Given the description of an element on the screen output the (x, y) to click on. 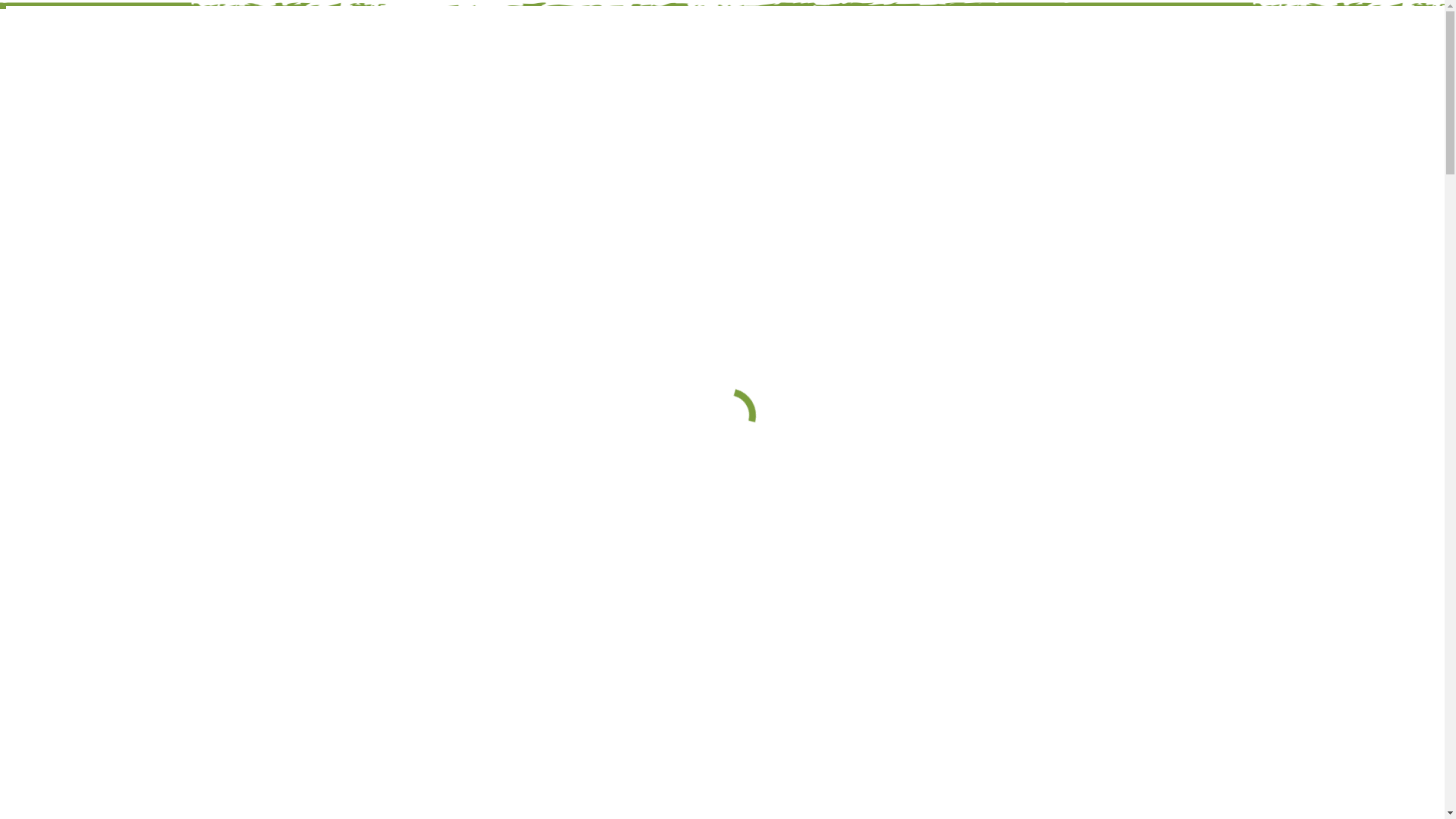
artisan-farmers-markets-logo2 Element type: hover (195, 95)
Contact Us Element type: text (33, 148)
Skip to content Element type: text (5, 5)
